Given the description of an element on the screen output the (x, y) to click on. 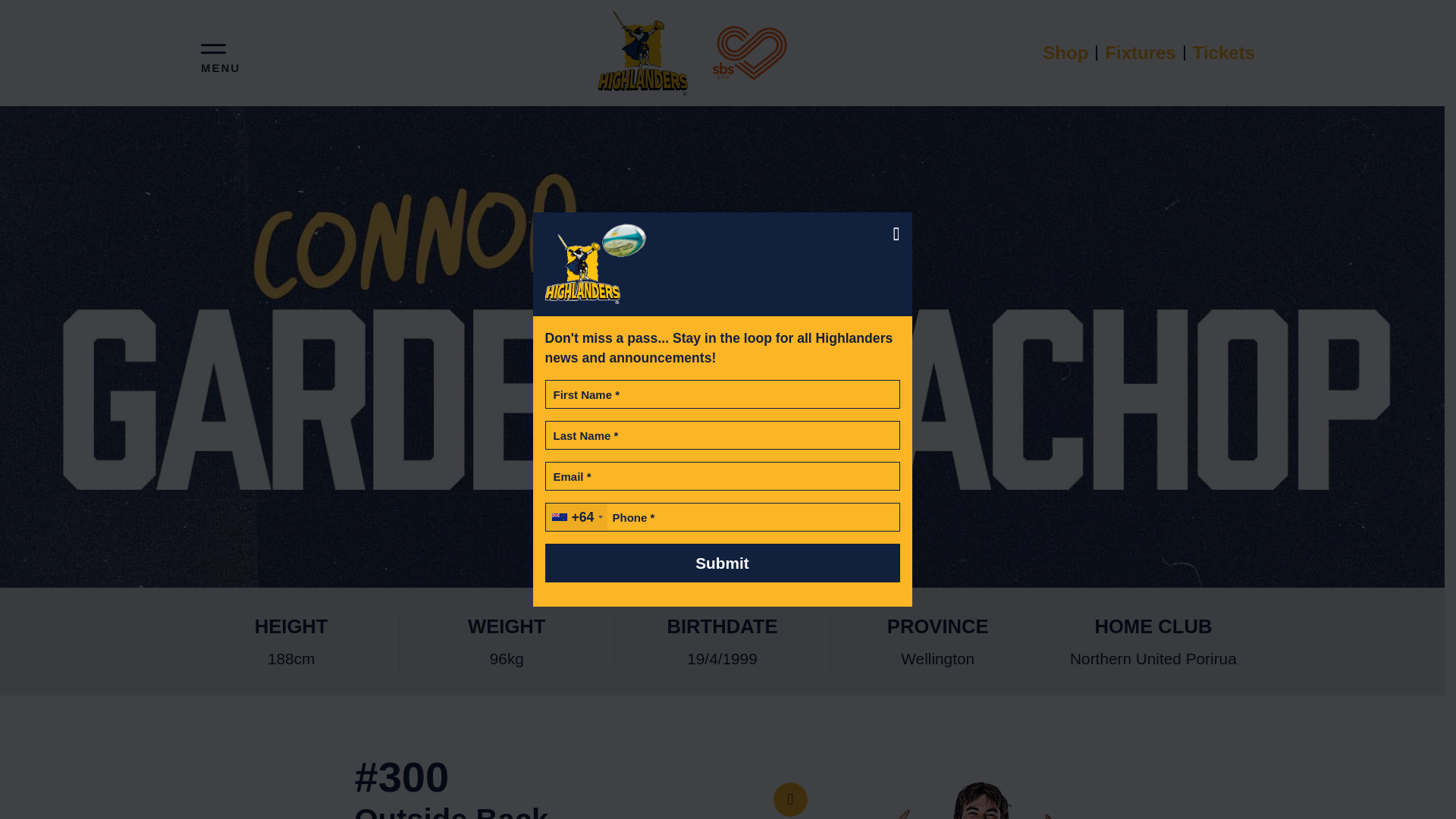
Submit (721, 562)
Tickets (1220, 52)
Shop (1066, 52)
Fixtures (1141, 52)
